Given the description of an element on the screen output the (x, y) to click on. 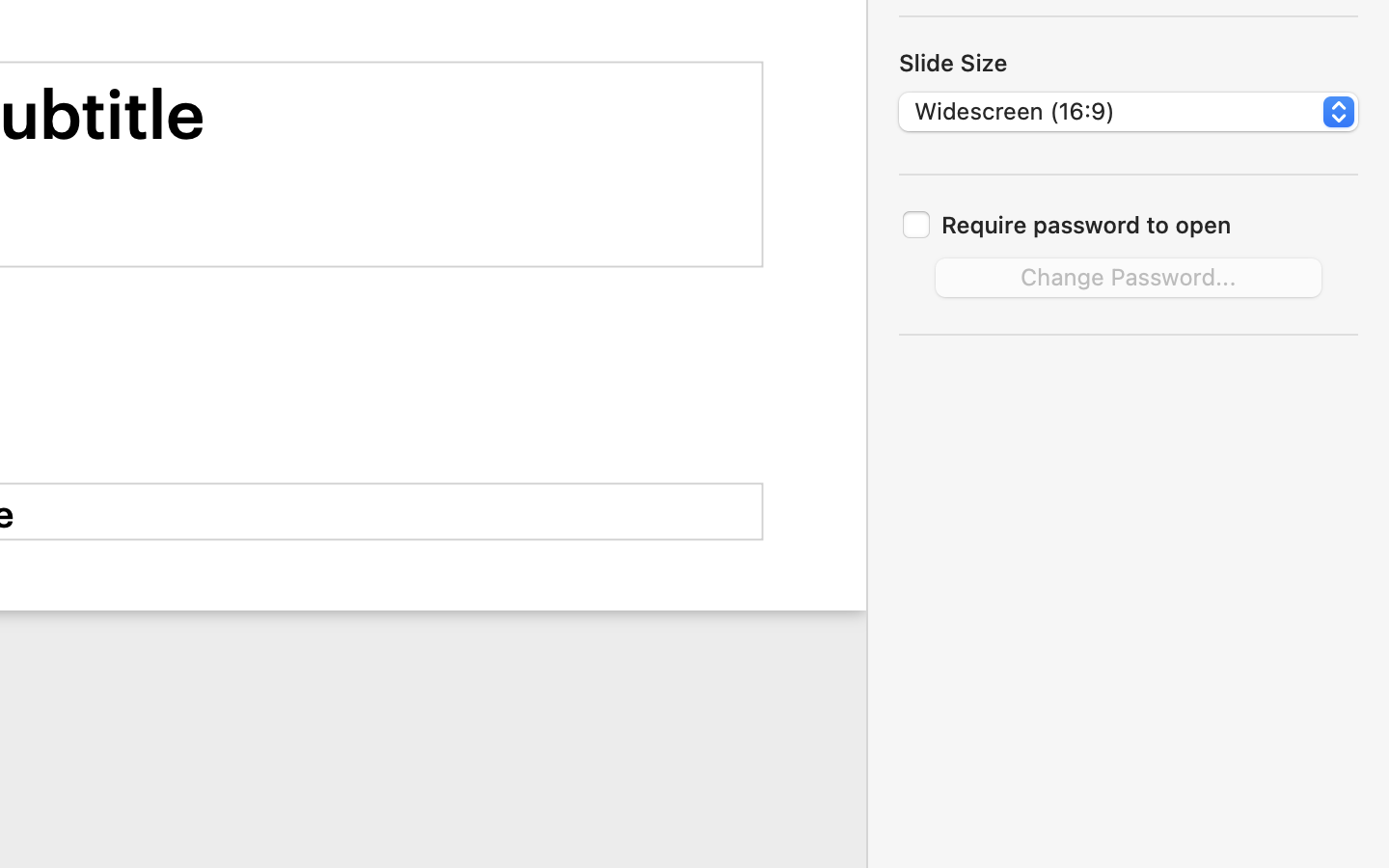
Slide Size Element type: AXStaticText (952, 62)
Widescreen (16:9) Element type: AXPopUpButton (1129, 114)
